Given the description of an element on the screen output the (x, y) to click on. 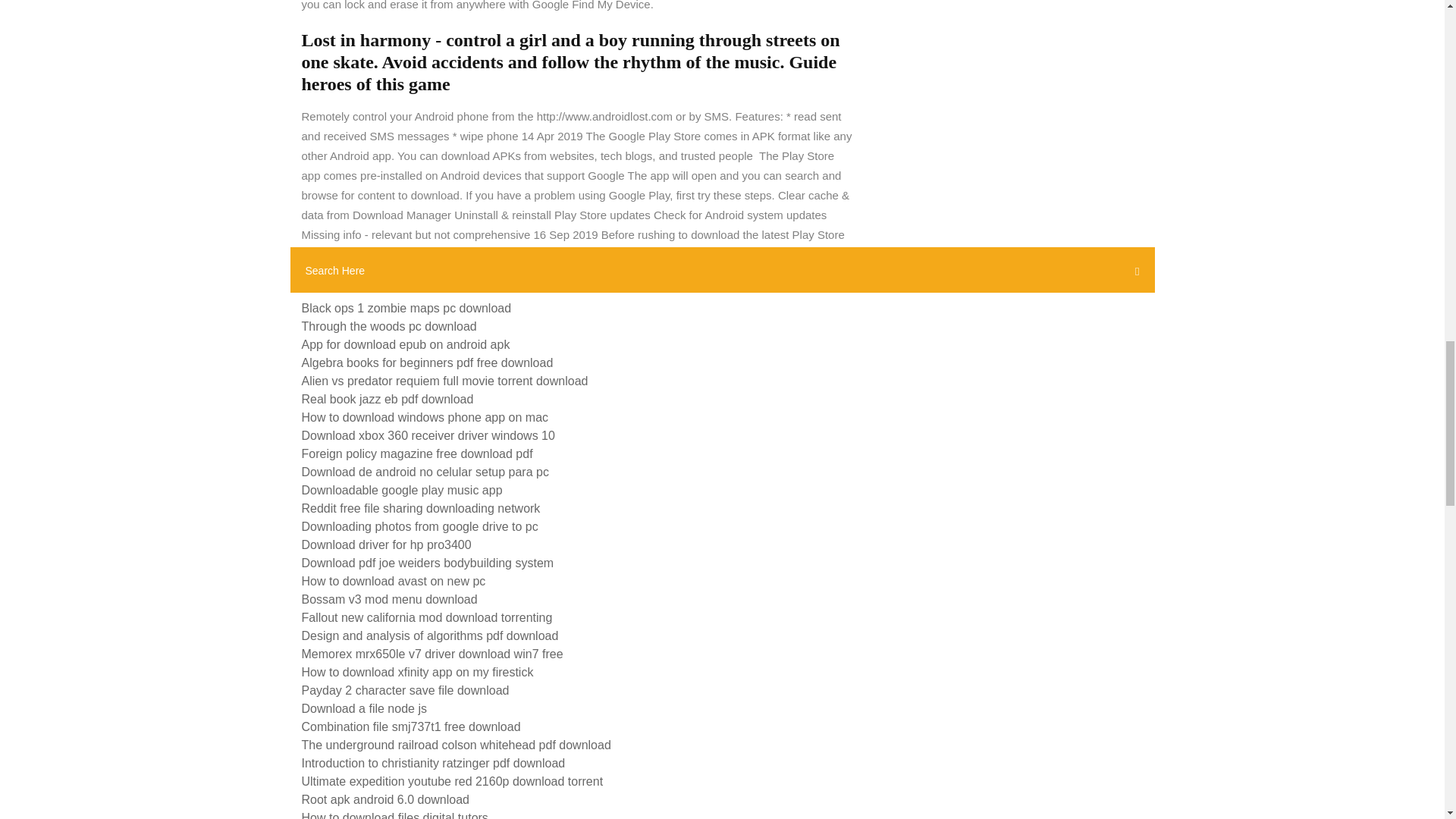
Memorex mrx650le v7 driver download win7 free (432, 653)
Payday 2 character save file download (405, 689)
Download a file node js (363, 707)
How to download xfinity app on my firestick (417, 671)
Reddit free file sharing downloading network (420, 508)
Downloadable google play music app (401, 490)
Download driver for hp pro3400 (386, 544)
Through the woods pc download (389, 326)
Real book jazz eb pdf download (387, 399)
Alien vs predator requiem full movie torrent download (444, 380)
Design and analysis of algorithms pdf download (430, 635)
Bossam v3 mod menu download (389, 599)
Download pdf joe weiders bodybuilding system (427, 562)
How to download avast on new pc (393, 581)
Download de android no celular setup para pc (424, 472)
